Given the description of an element on the screen output the (x, y) to click on. 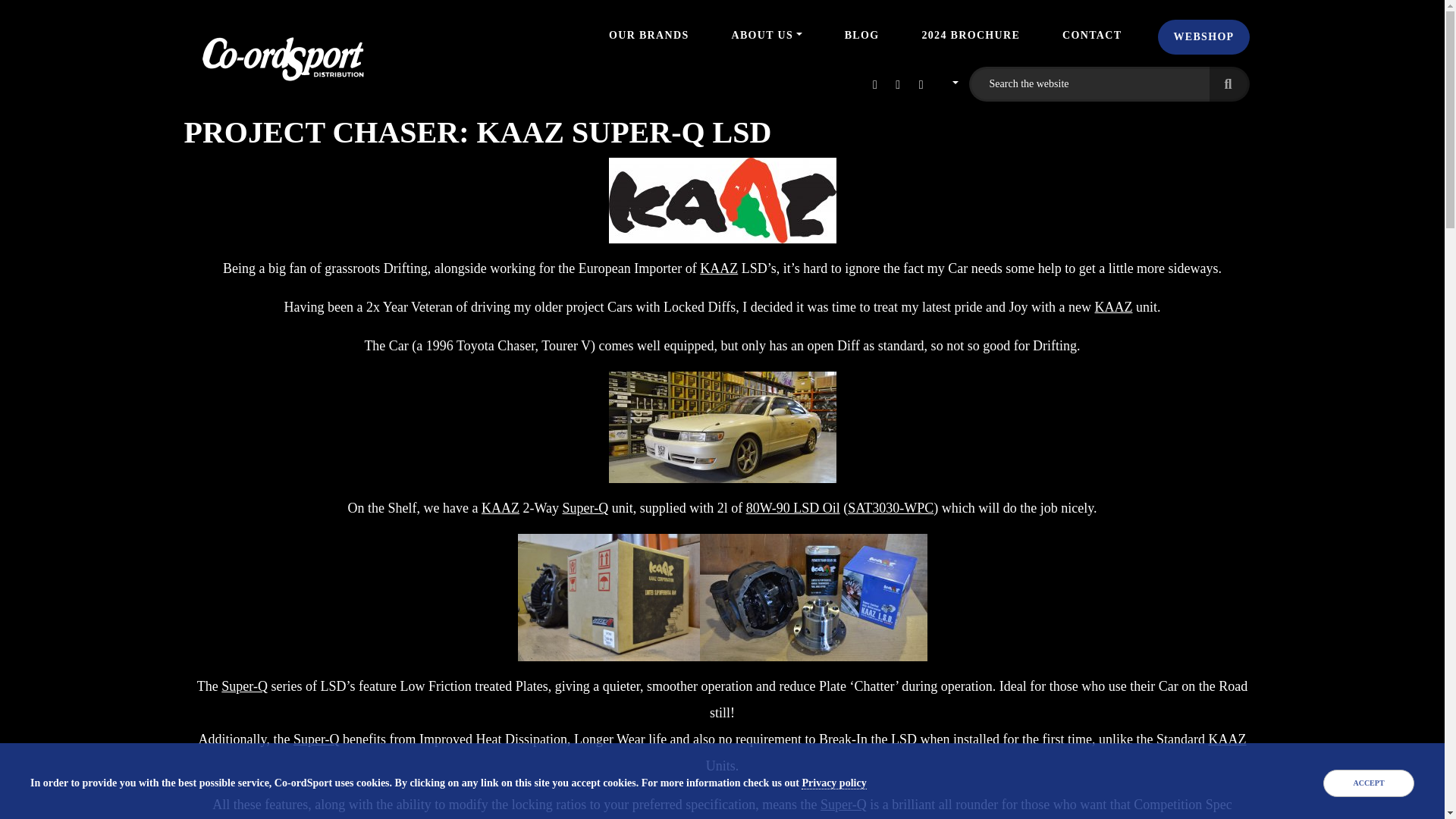
Super-Q (316, 739)
BLOG (861, 35)
KAAZ (1227, 739)
KAAZ (1113, 306)
KAAZ (719, 268)
Webshop (1203, 36)
Super-Q (244, 685)
Super-Q (585, 507)
About Us (766, 35)
Super-Q (843, 804)
80W-90 LSD Oil (792, 507)
Contact (1091, 35)
KAAZ (500, 507)
ABOUT US (766, 35)
Our Brands (648, 35)
